Given the description of an element on the screen output the (x, y) to click on. 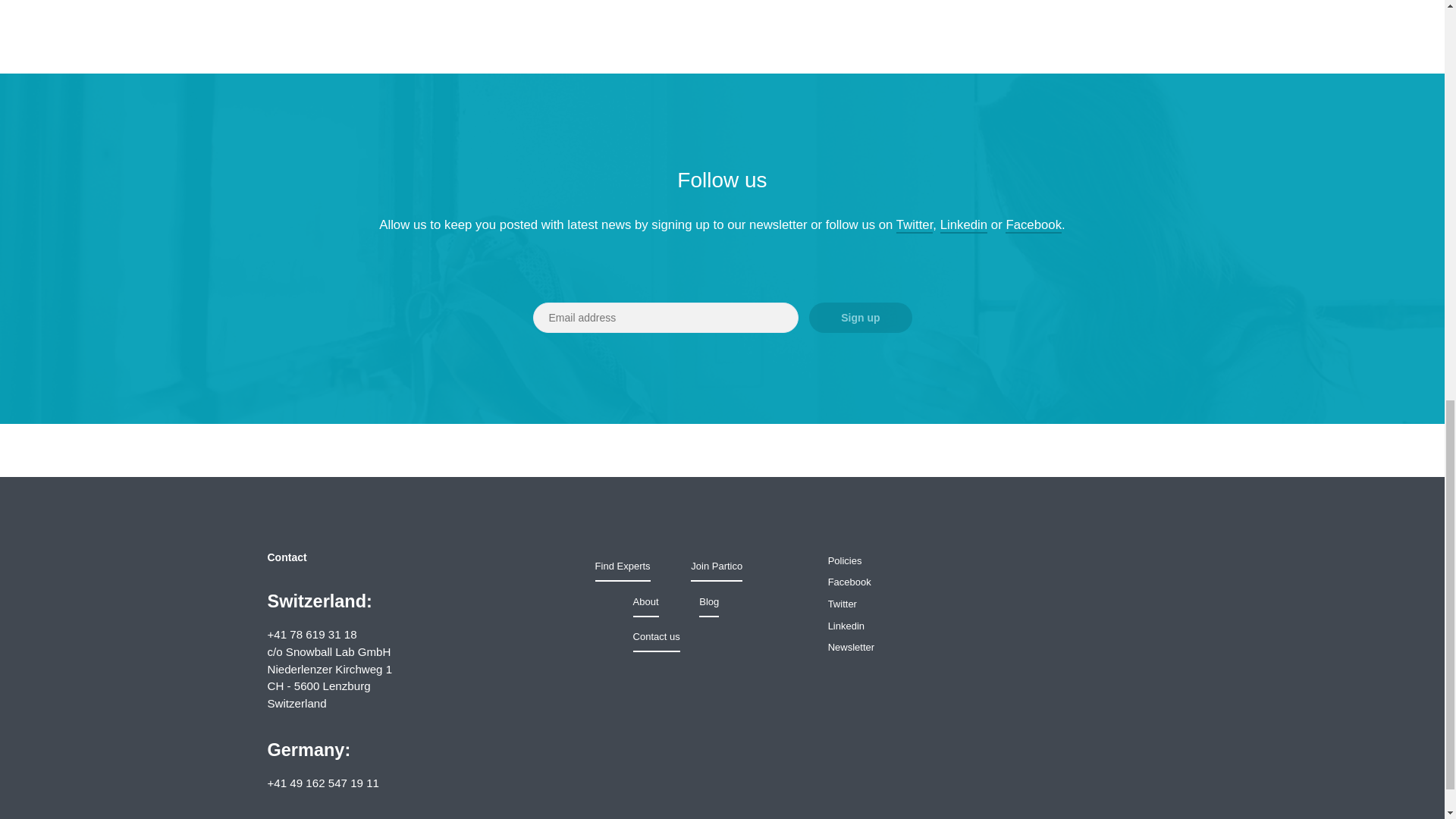
Follow us on Twitter (842, 603)
Find Experts (622, 566)
Contact us (656, 636)
Sign up (860, 317)
Find a Partico expert for your projects (622, 566)
Join Partico (716, 566)
Partico News and Blog (708, 602)
Follow us on Linkedin (846, 625)
Linkedin (846, 625)
Twitter (914, 225)
Sign up (860, 317)
Linkedin (964, 225)
Facebook (1033, 225)
Facebook (849, 582)
About (646, 602)
